Given the description of an element on the screen output the (x, y) to click on. 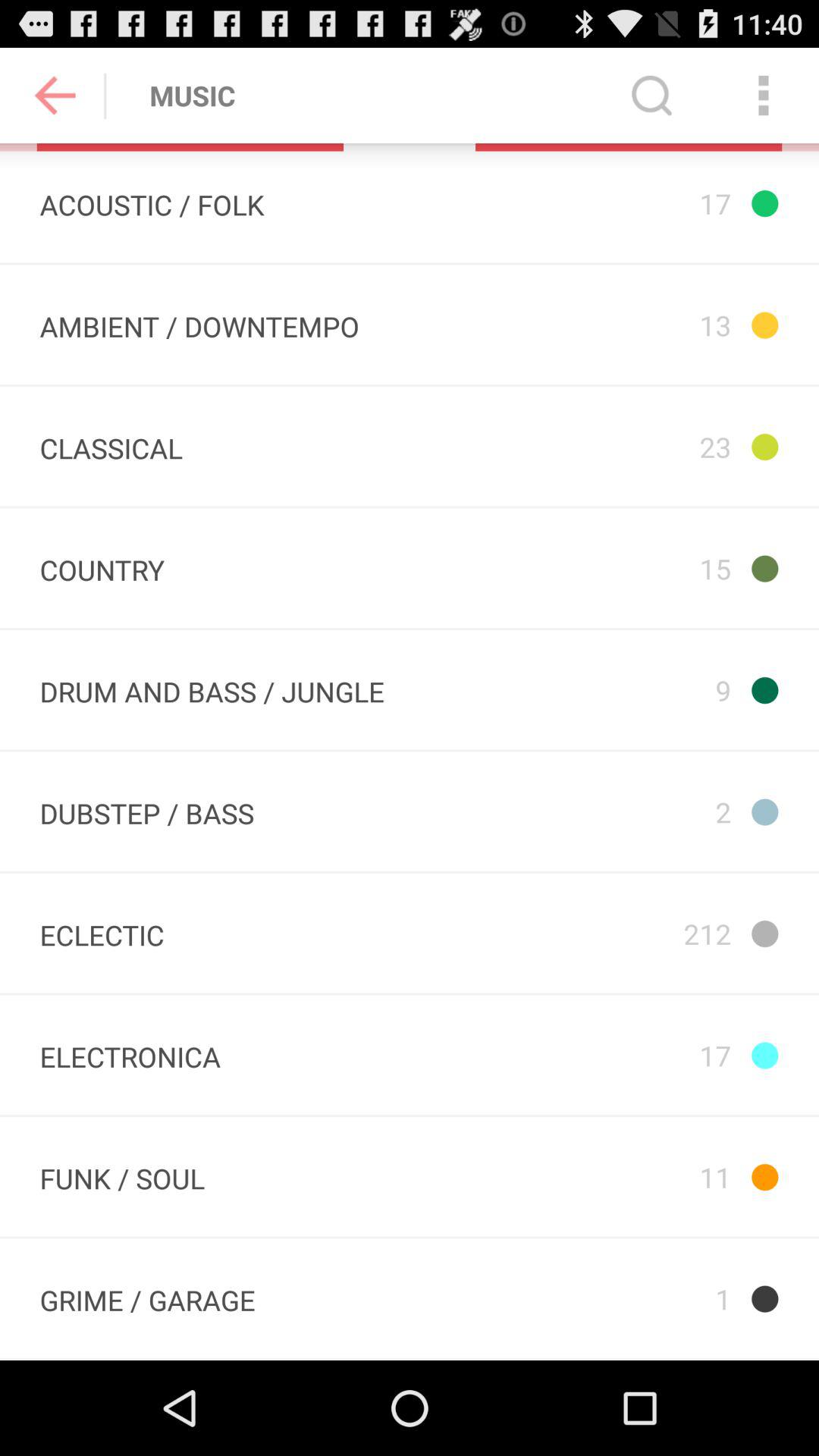
tap the item above the classical item (199, 324)
